Given the description of an element on the screen output the (x, y) to click on. 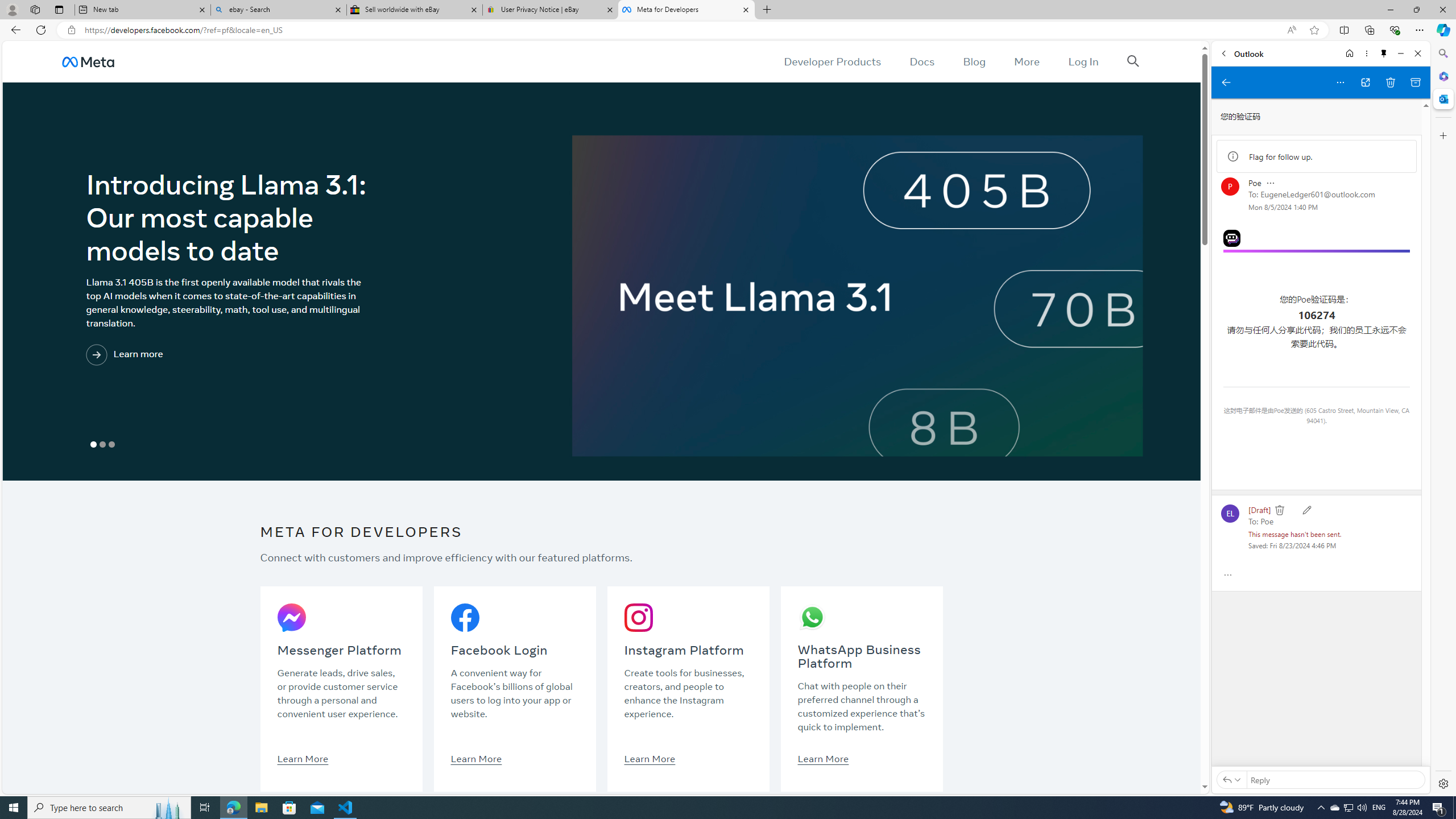
Show Slide 3 (112, 444)
Outlook (1442, 98)
Settings (1442, 783)
Reply Options, Double tap to change recipients. (1231, 779)
